Given the description of an element on the screen output the (x, y) to click on. 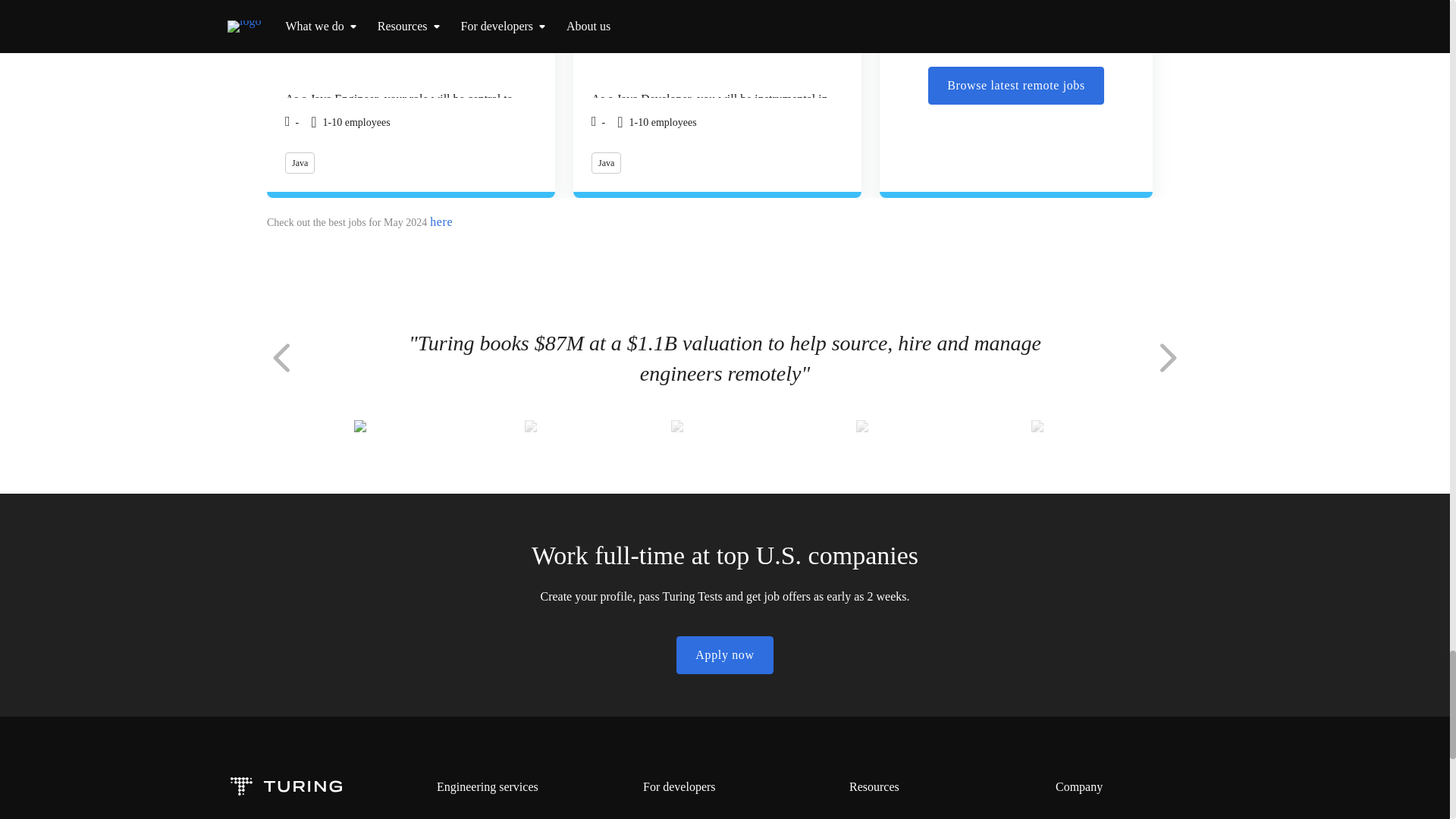
Apply now (725, 655)
Browse latest remote jobs (1015, 85)
here (440, 221)
